Given the description of an element on the screen output the (x, y) to click on. 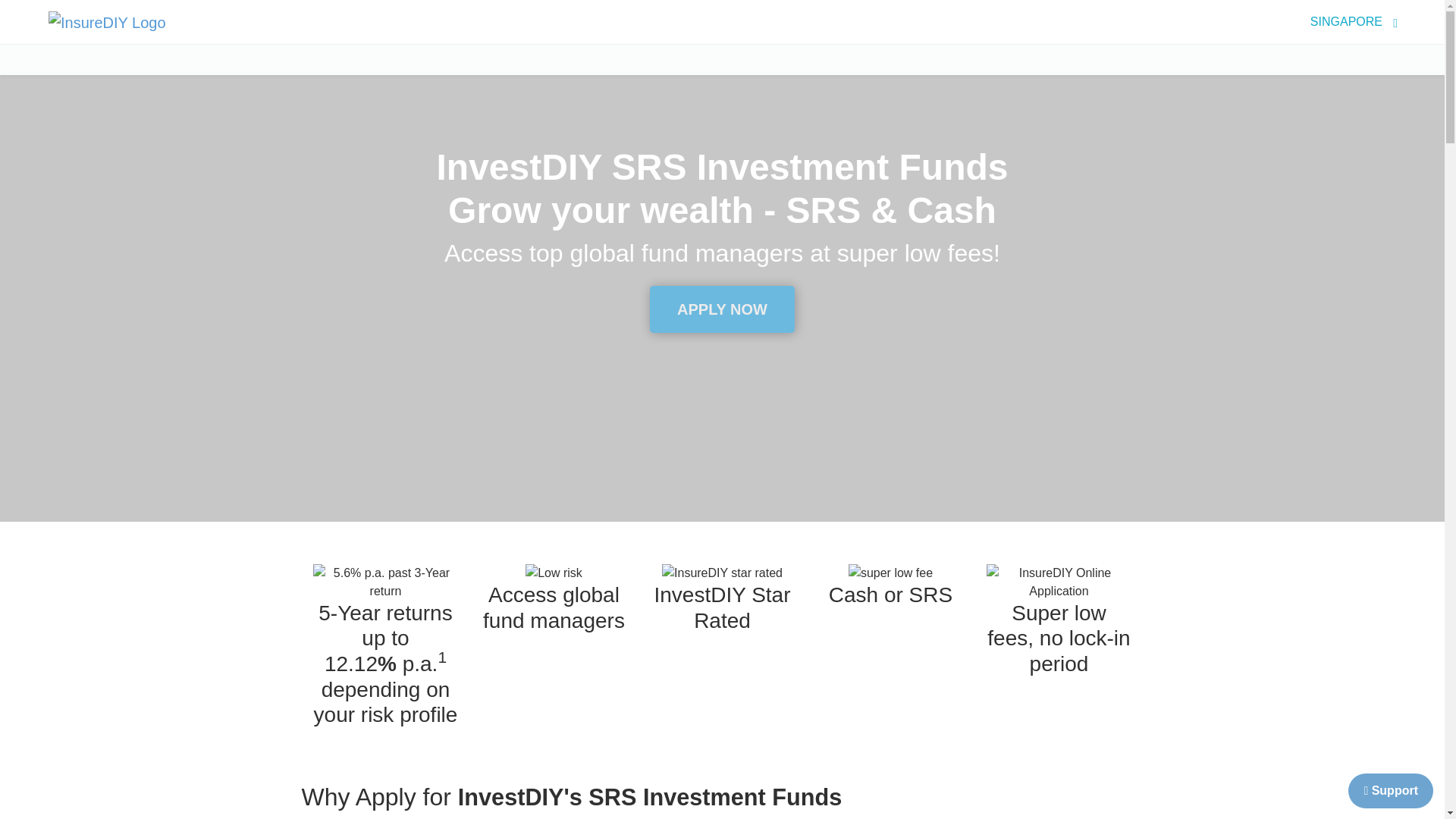
SINGAPORE (1346, 21)
APPLY NOW (721, 308)
Support (1390, 790)
